Given the description of an element on the screen output the (x, y) to click on. 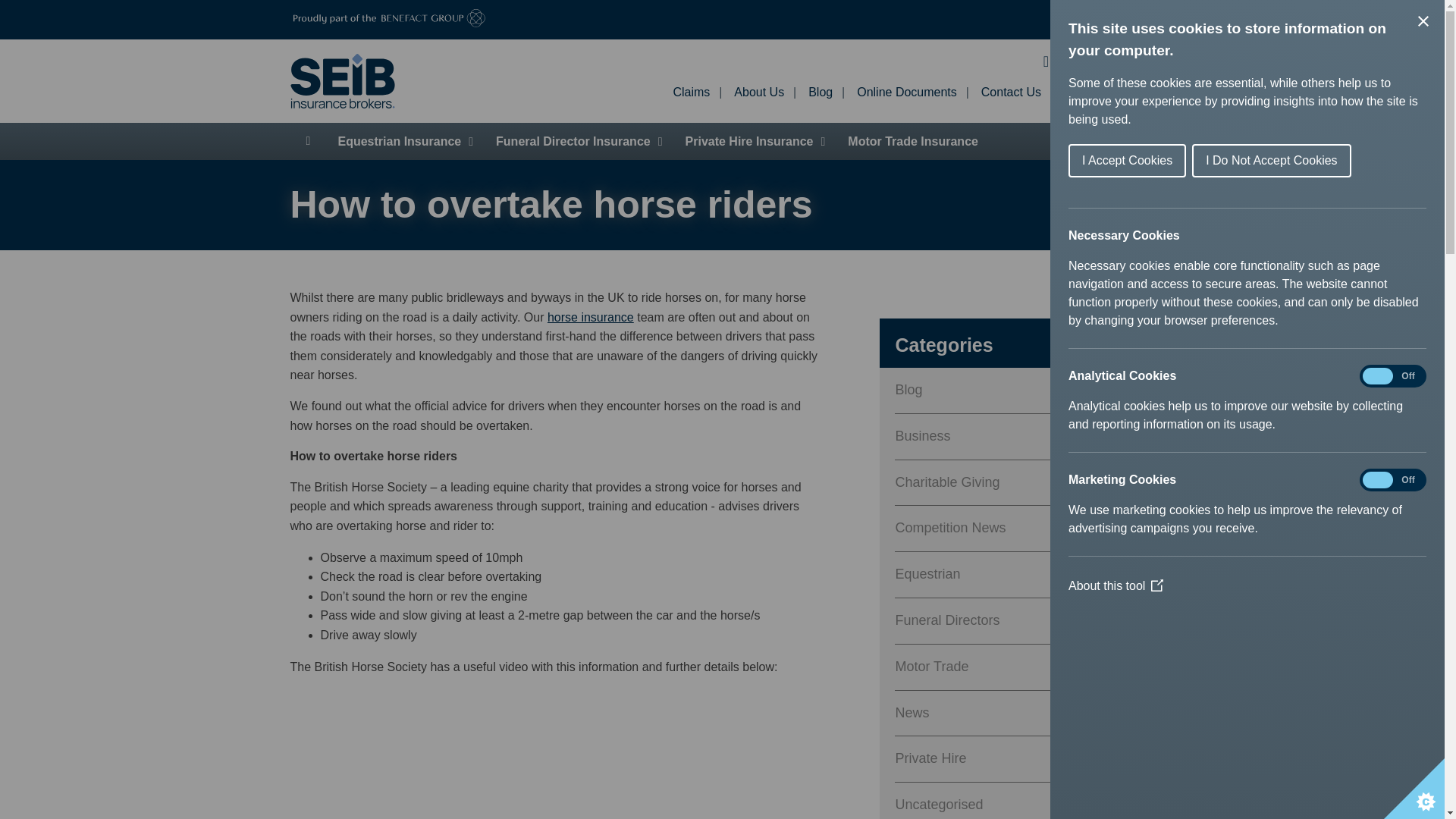
Home (307, 140)
01708 850 000 (1103, 61)
About Us (758, 91)
Claims (691, 91)
Blog (820, 91)
Login (1121, 92)
Equestrian Insurance (405, 140)
Online Documents (906, 91)
Contact Us (1011, 91)
